Given the description of an element on the screen output the (x, y) to click on. 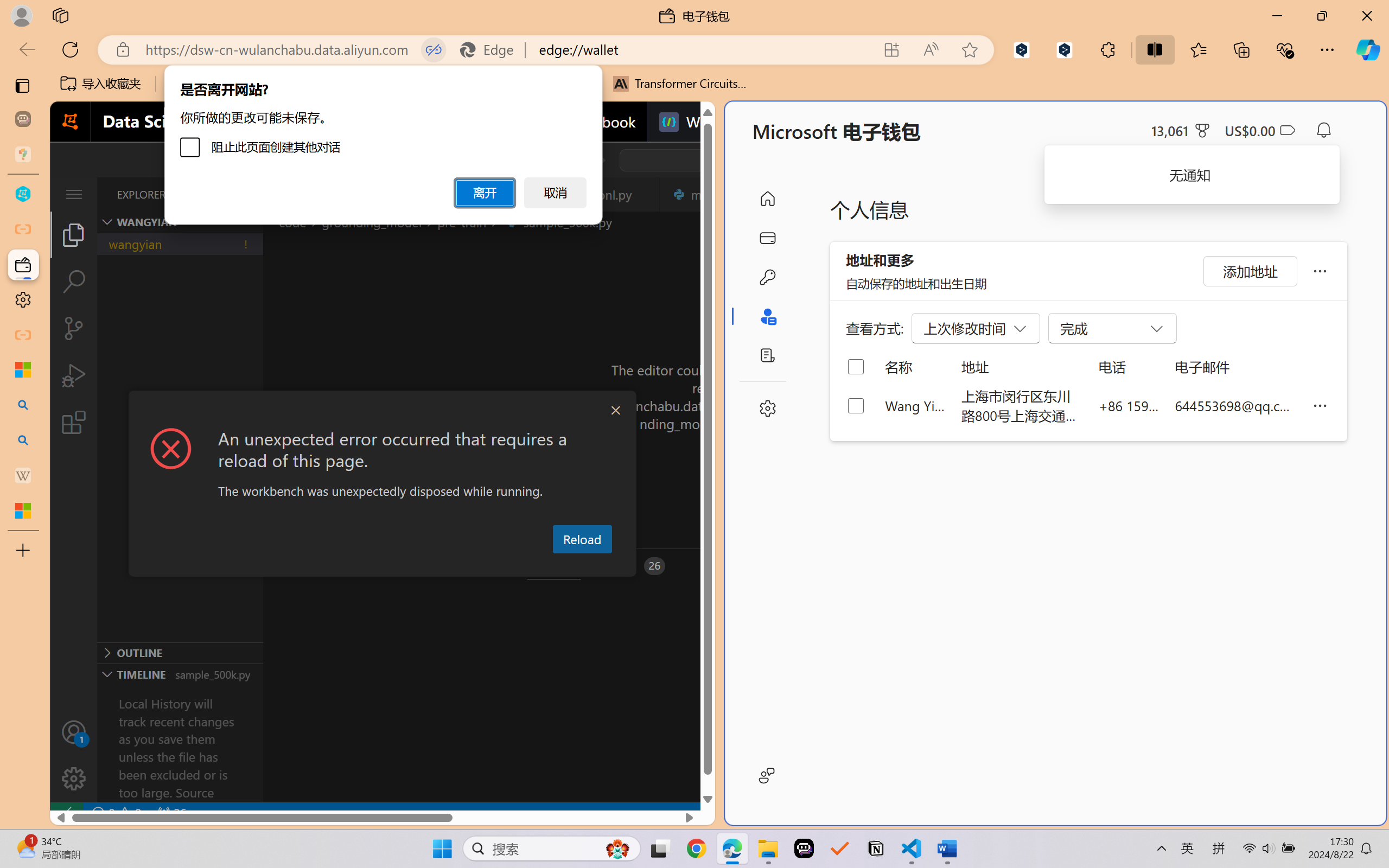
Debug Console (Ctrl+Shift+Y) (463, 565)
Close Dialog (615, 410)
Class: ___1lmltc5 f1agt3bx f12qytpq (1286, 130)
Terminal (Ctrl+`) (553, 565)
Terminal actions (1002, 565)
Class: actions-container (381, 410)
